Given the description of an element on the screen output the (x, y) to click on. 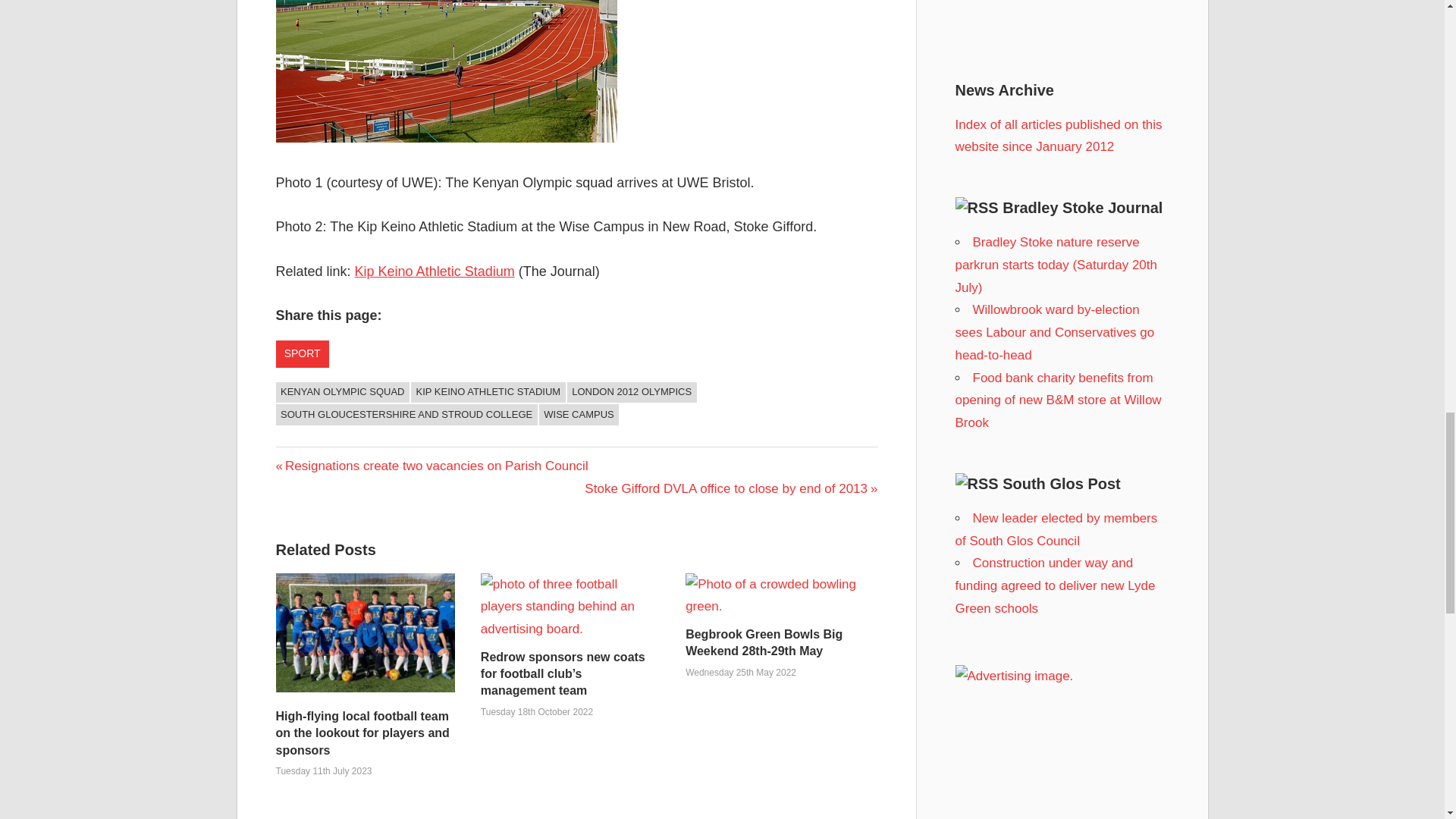
11:02pm (324, 770)
